Given the description of an element on the screen output the (x, y) to click on. 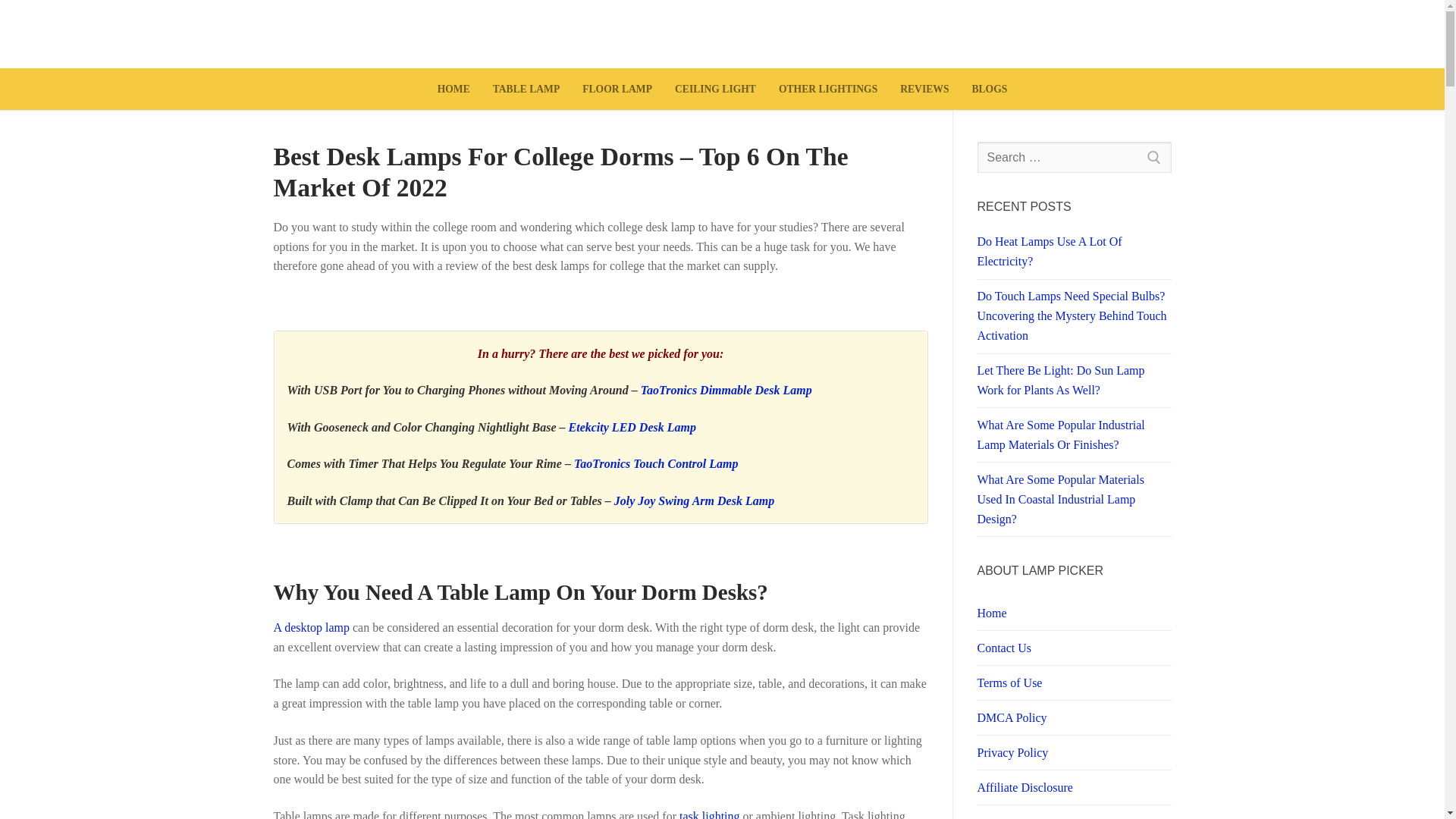
OTHER LIGHTINGS (827, 89)
Etekcity LED Desk Lamp (632, 427)
TaoTronics Touch Control Lamp (655, 463)
task lighting (709, 814)
TaoTronics Dimmable Desk Lamp (726, 390)
A desktop lamp (311, 626)
Joly Joy Swing Arm Desk Lamp (694, 500)
CEILING LIGHT (715, 89)
HOME (454, 89)
TABLE LAMP (526, 89)
Search for: (1073, 157)
BLOGS (988, 89)
REVIEWS (923, 89)
FLOOR LAMP (617, 89)
